Given the description of an element on the screen output the (x, y) to click on. 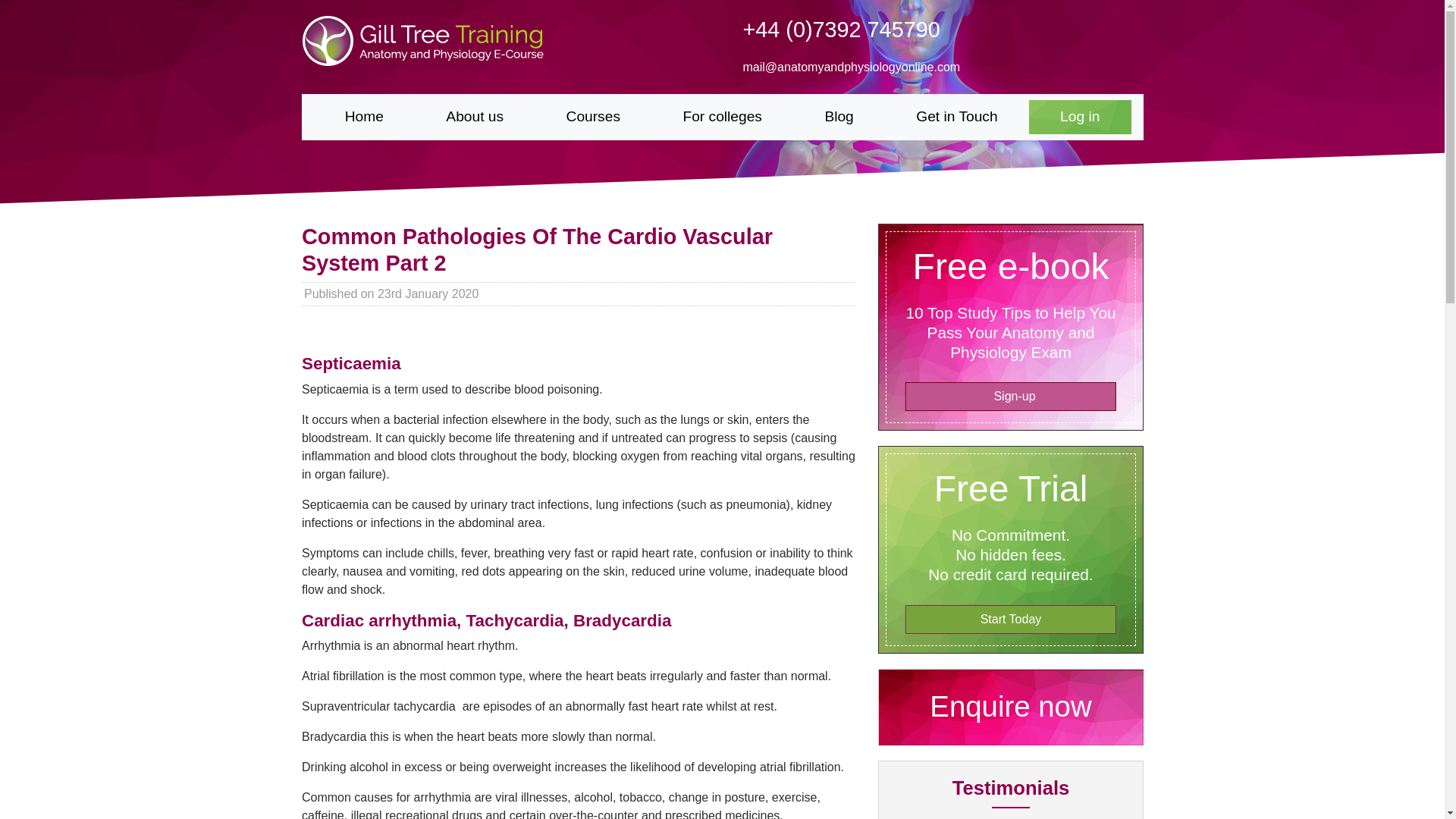
Sign-up (1009, 396)
Start Today (1009, 618)
Blog (839, 116)
Enquire now (1009, 710)
Get in Touch (957, 116)
For colleges (721, 116)
Courses (592, 116)
Home (364, 116)
Log in (1080, 116)
About us (474, 116)
